Given the description of an element on the screen output the (x, y) to click on. 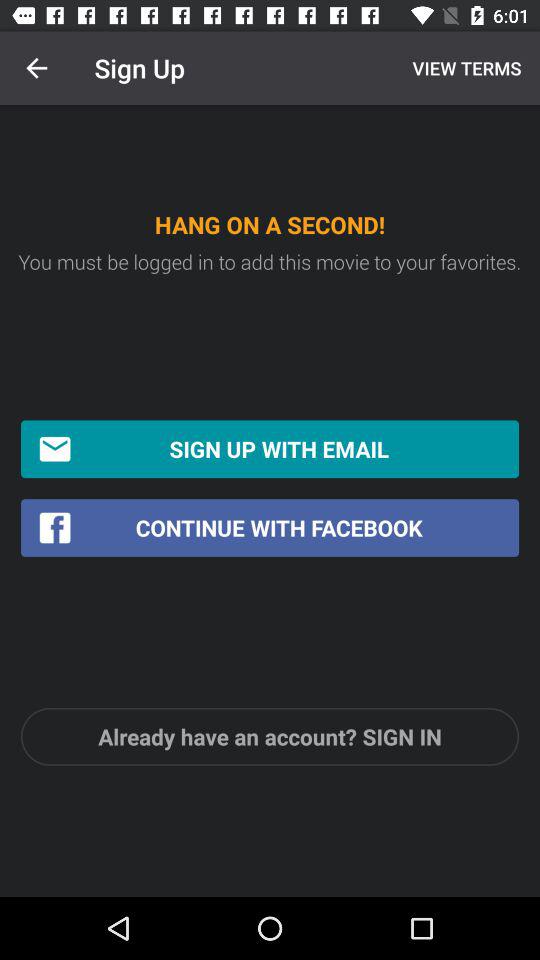
turn off the view terms icon (464, 67)
